Given the description of an element on the screen output the (x, y) to click on. 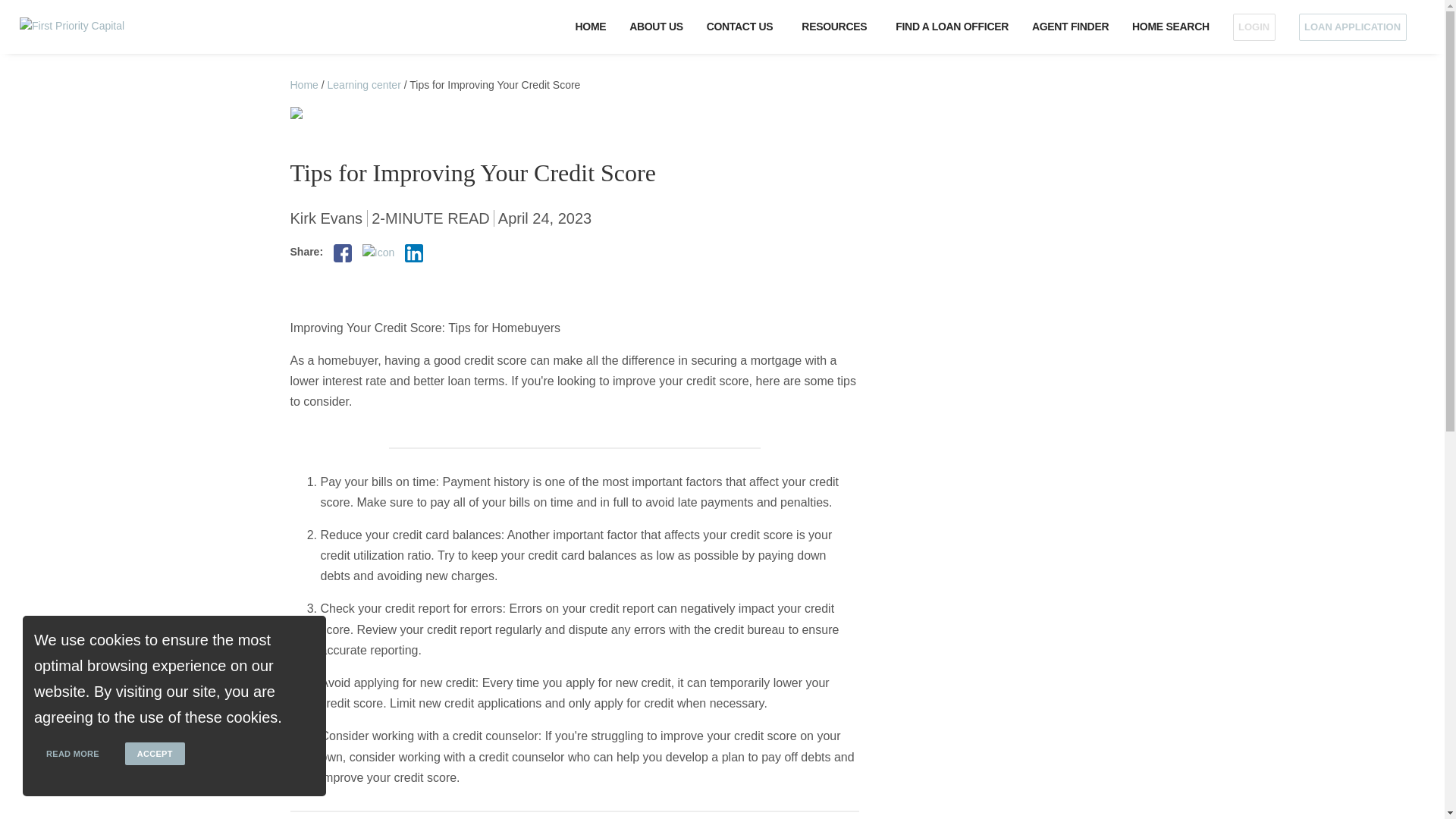
ABOUT US (656, 27)
Learning center (364, 84)
HOME SEARCH (1171, 27)
RESOURCES   (836, 27)
HOME (590, 27)
LOGIN (1253, 27)
Home (303, 84)
FIND A LOAN OFFICER (952, 27)
CONTACT US   (742, 27)
LOAN APPLICATION (1352, 26)
LOAN APPLICATION (1356, 27)
AGENT FINDER (1069, 27)
LOGIN (1254, 26)
